Given the description of an element on the screen output the (x, y) to click on. 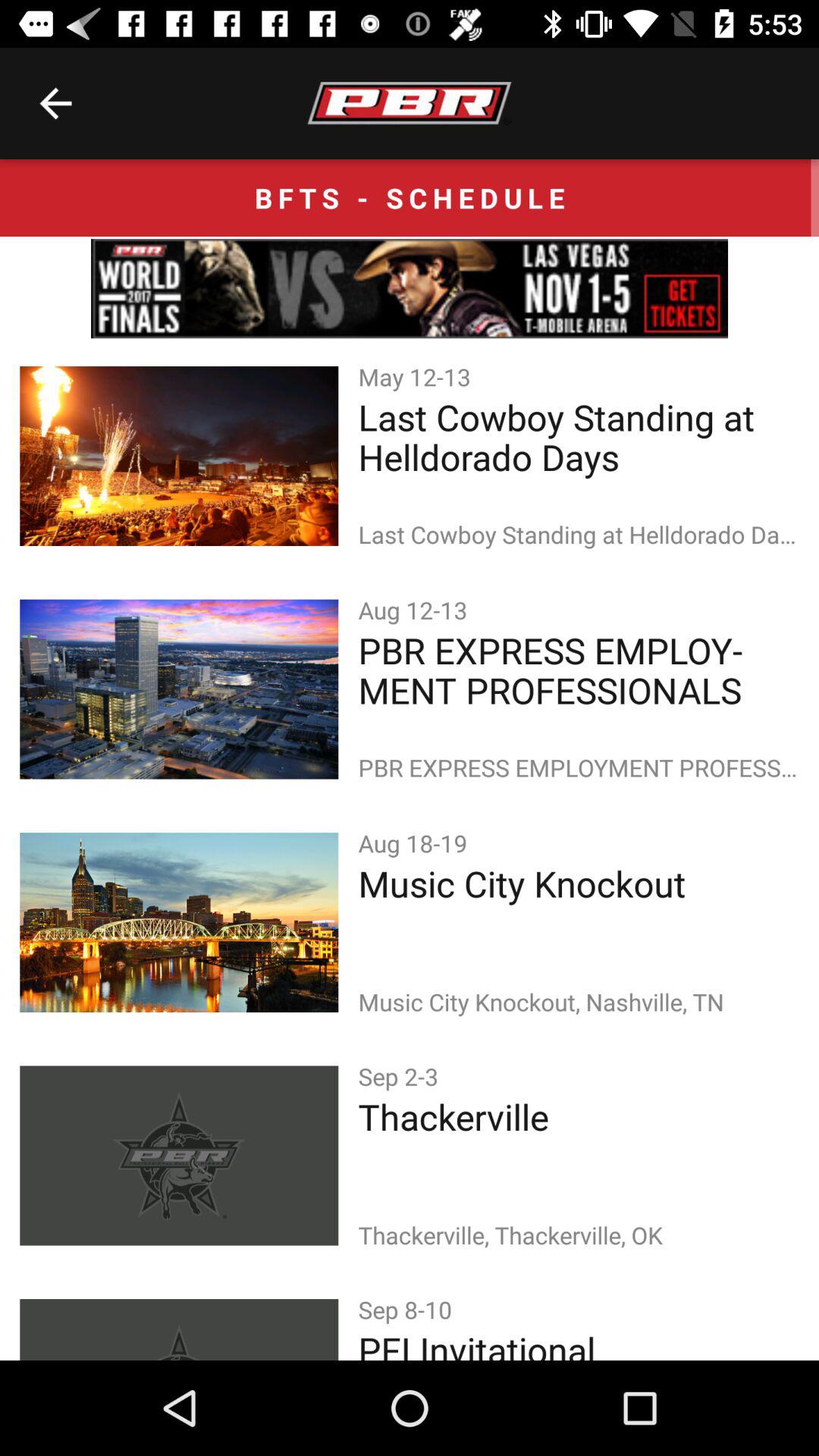
open the pfi invitational (578, 1342)
